Given the description of an element on the screen output the (x, y) to click on. 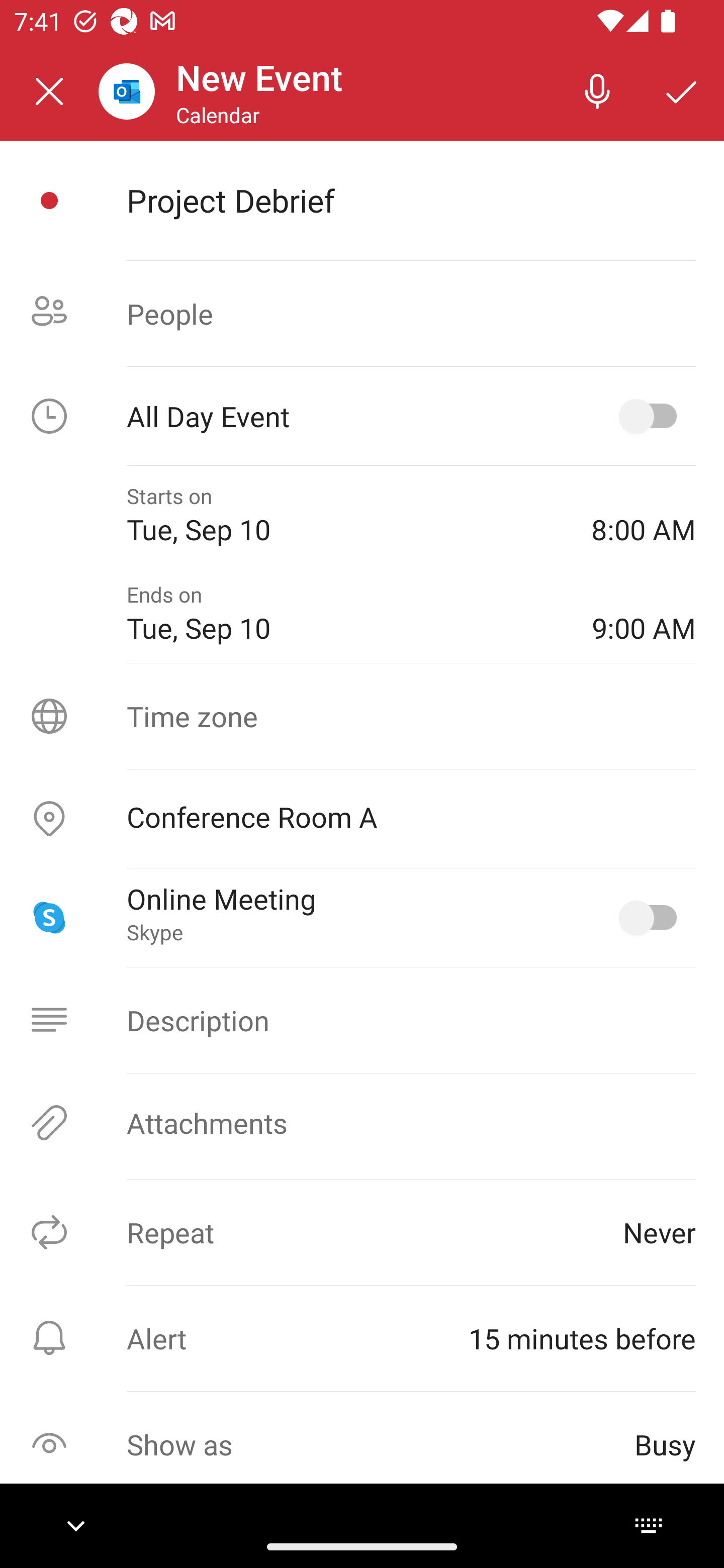
Close (49, 91)
Save (681, 90)
Project Debrief (410, 200)
Event icon picker (48, 200)
People (362, 313)
All Day Event (362, 415)
Starts on Tue, Sep 10 (344, 514)
8:00 AM (643, 514)
Ends on Tue, Sep 10 (344, 613)
9:00 AM (643, 613)
Time zone (362, 715)
Location, Conference Room A Conference Room A (362, 818)
Online Meeting, Skype selected (651, 917)
Description (362, 1019)
Attachments (362, 1122)
Repeat Never (362, 1232)
Alert ⁨15 minutes before (362, 1337)
Show as Busy (362, 1444)
